Given the description of an element on the screen output the (x, y) to click on. 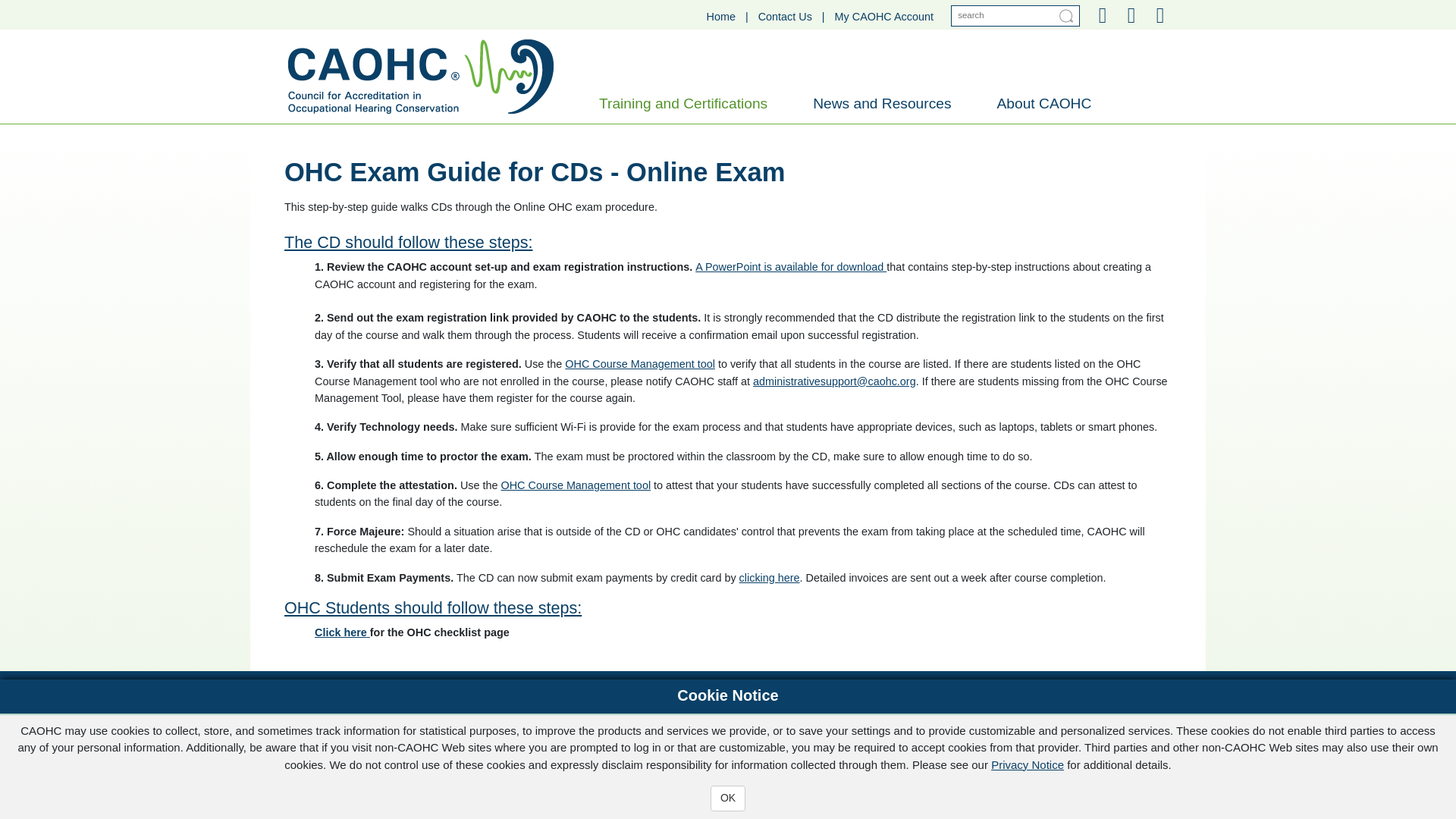
Follow us (290, 767)
Follow us (1101, 15)
Follow us (308, 766)
Connect with us (325, 766)
